Given the description of an element on the screen output the (x, y) to click on. 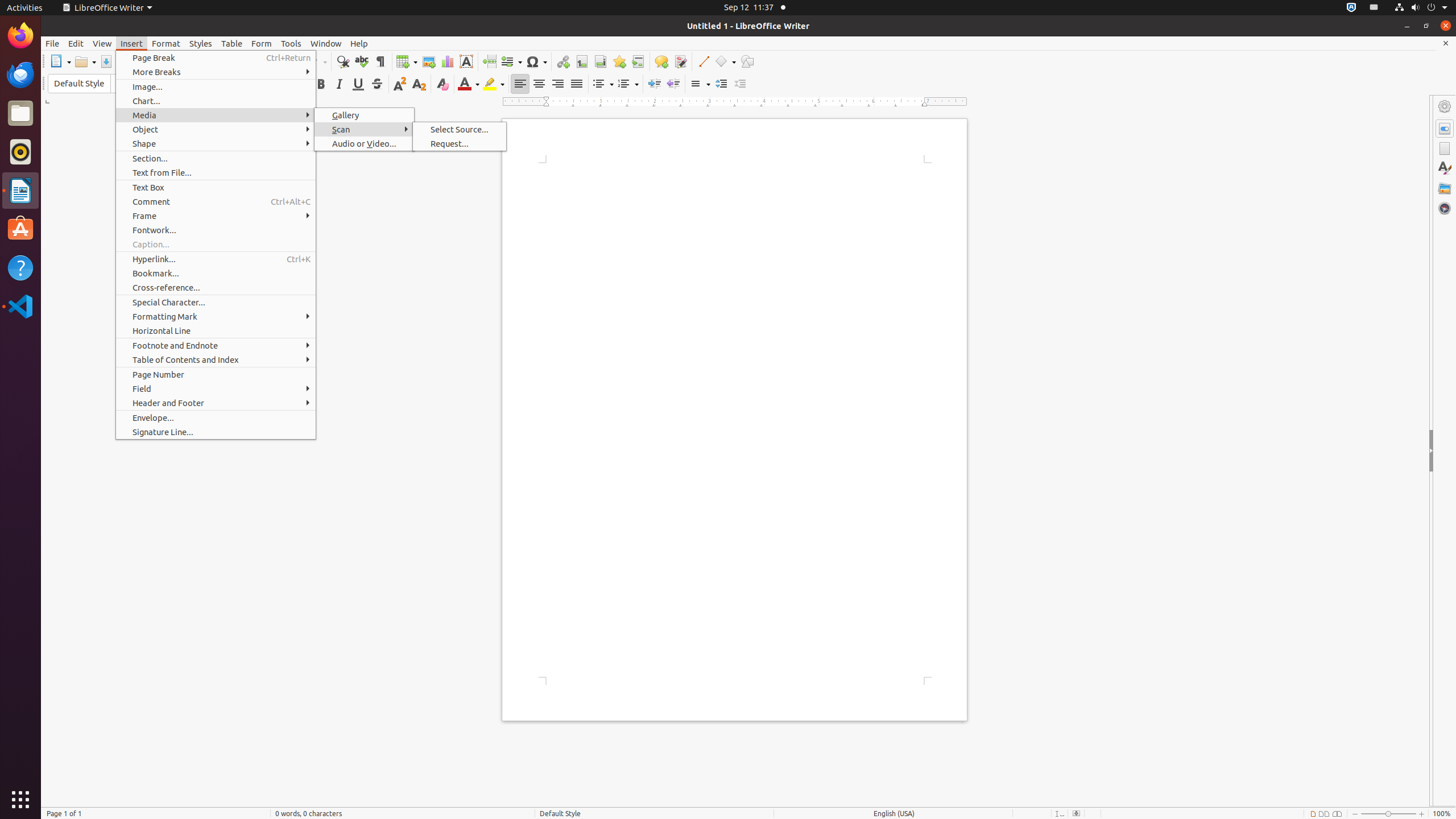
Bookmark Element type: push-button (618, 61)
Footnote Element type: push-button (581, 61)
File Element type: menu (51, 43)
Line Spacing Element type: push-button (699, 83)
Formatting Marks Element type: toggle-button (379, 61)
